Given the description of an element on the screen output the (x, y) to click on. 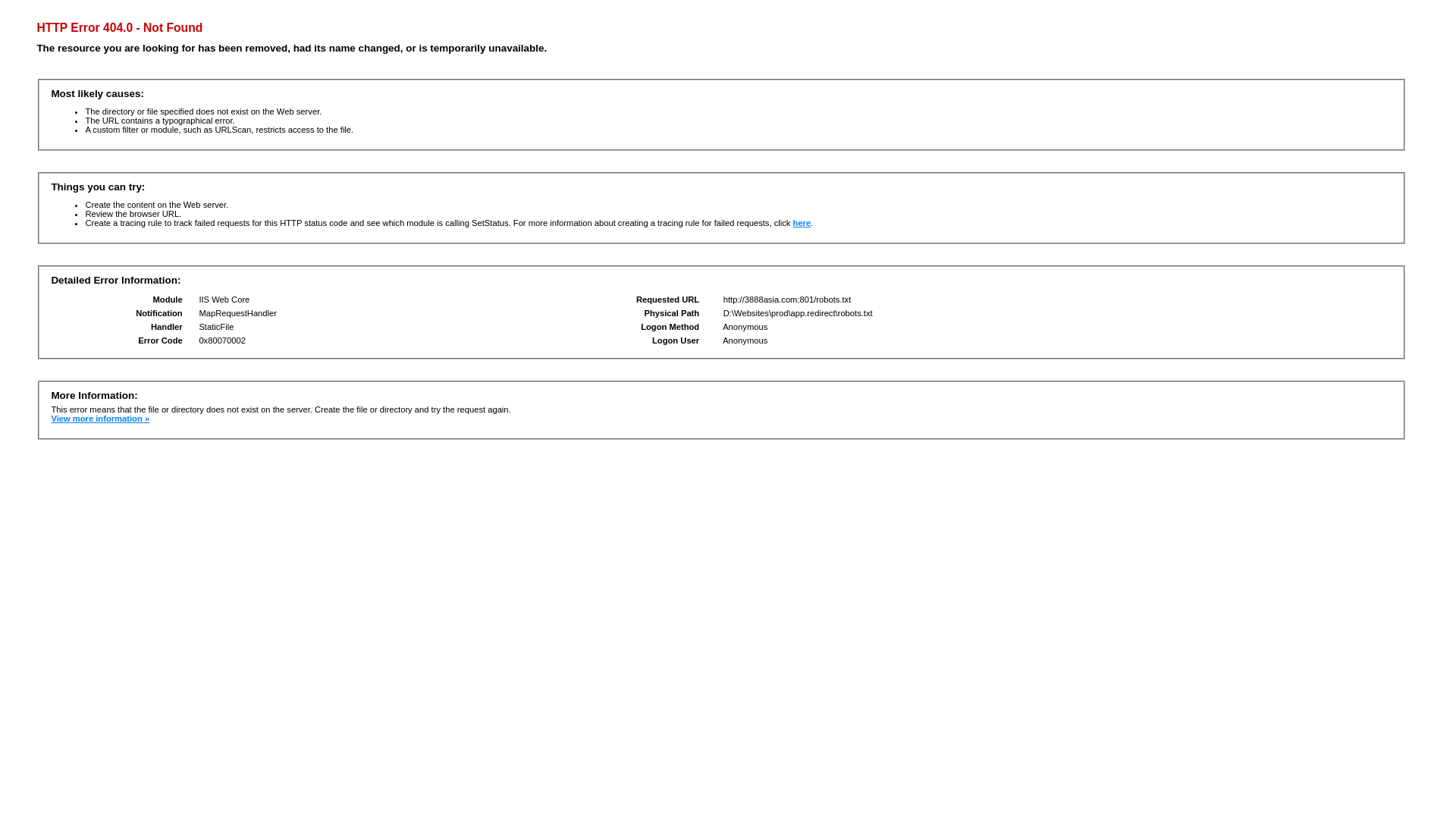
here Element type: text (802, 222)
